Given the description of an element on the screen output the (x, y) to click on. 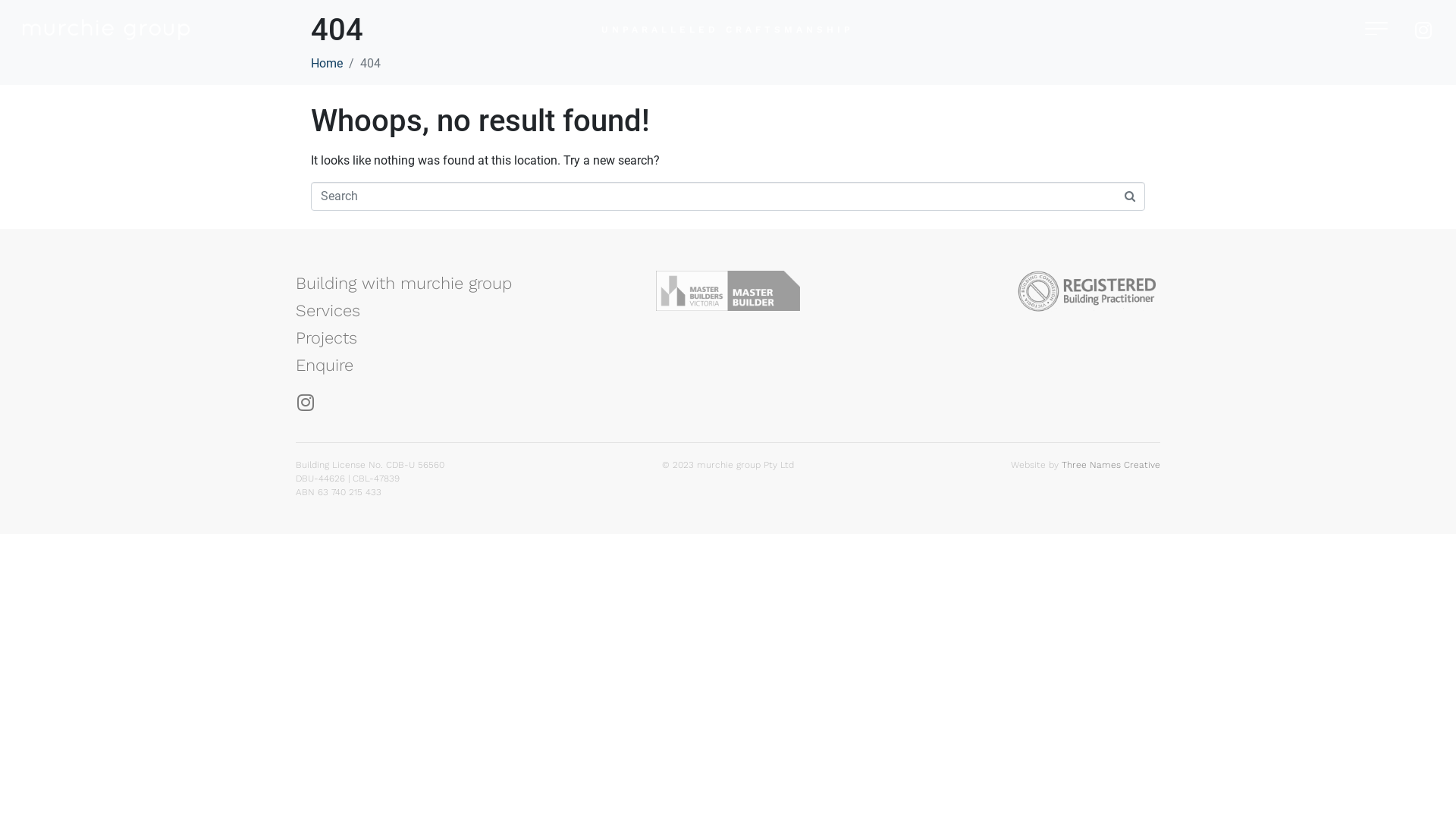
Projects Element type: text (439, 337)
Three Names Creative Element type: text (1110, 464)
Home Element type: text (326, 63)
Building with murchie group Element type: text (439, 282)
Services Element type: text (439, 310)
Enquire Element type: text (439, 364)
